Given the description of an element on the screen output the (x, y) to click on. 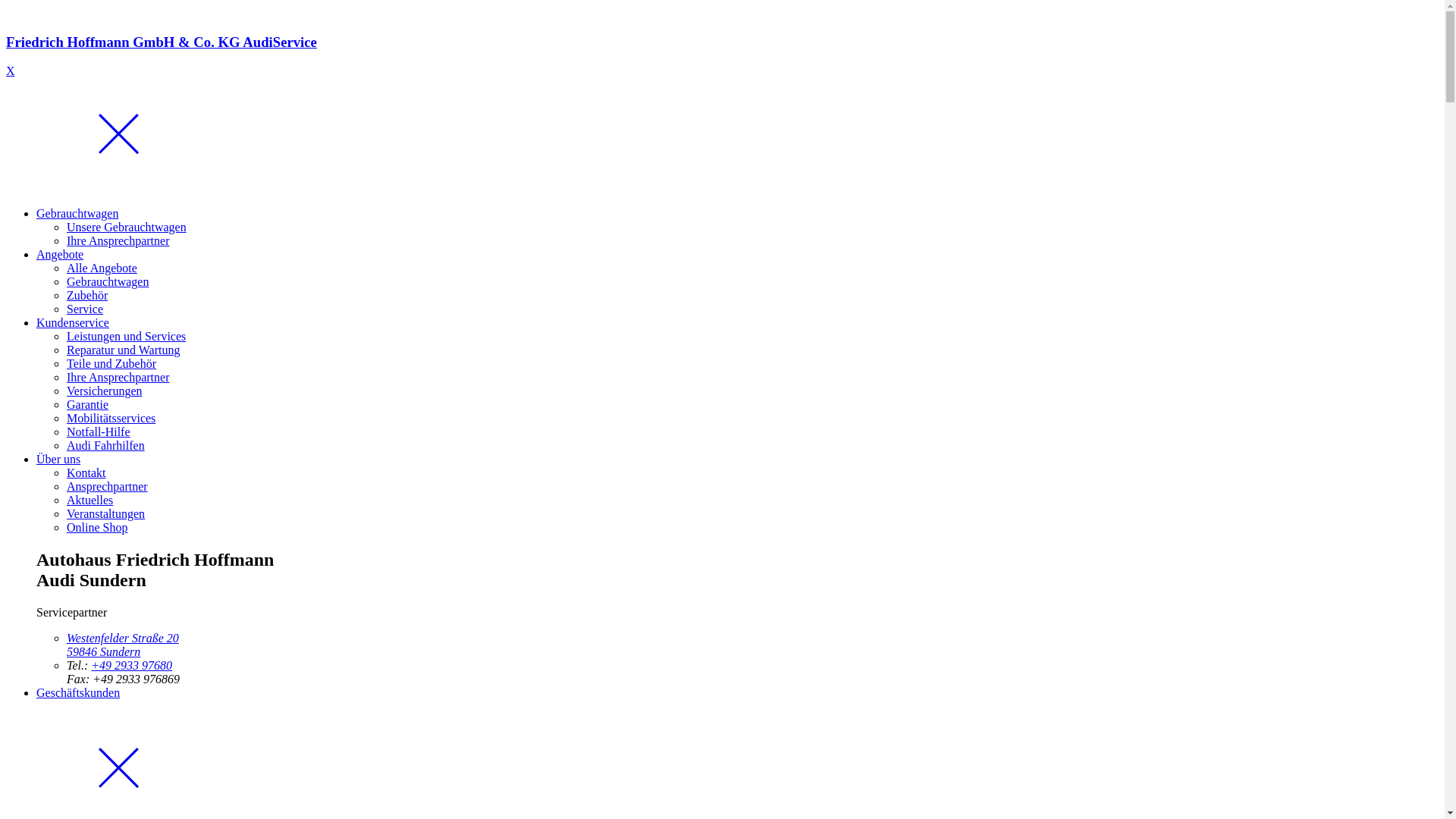
Gebrauchtwagen Element type: text (107, 281)
Notfall-Hilfe Element type: text (98, 431)
Gebrauchtwagen Element type: text (77, 213)
Service Element type: text (84, 308)
Kundenservice Element type: text (72, 322)
Versicherungen Element type: text (104, 390)
Audi Fahrhilfen Element type: text (105, 445)
Reparatur und Wartung Element type: text (122, 349)
Online Shop Element type: text (96, 526)
Alle Angebote Element type: text (101, 267)
Ansprechpartner Element type: text (106, 486)
Aktuelles Element type: text (89, 499)
+49 2933 97680 Element type: text (131, 664)
Garantie Element type: text (87, 404)
Veranstaltungen Element type: text (105, 513)
Leistungen und Services Element type: text (125, 335)
X Element type: text (10, 70)
Ihre Ansprechpartner Element type: text (117, 376)
Ihre Ansprechpartner Element type: text (117, 240)
Unsere Gebrauchtwagen Element type: text (126, 226)
Kontakt Element type: text (86, 472)
Friedrich Hoffmann GmbH & Co. KG AudiService Element type: text (722, 56)
Angebote Element type: text (59, 253)
